Given the description of an element on the screen output the (x, y) to click on. 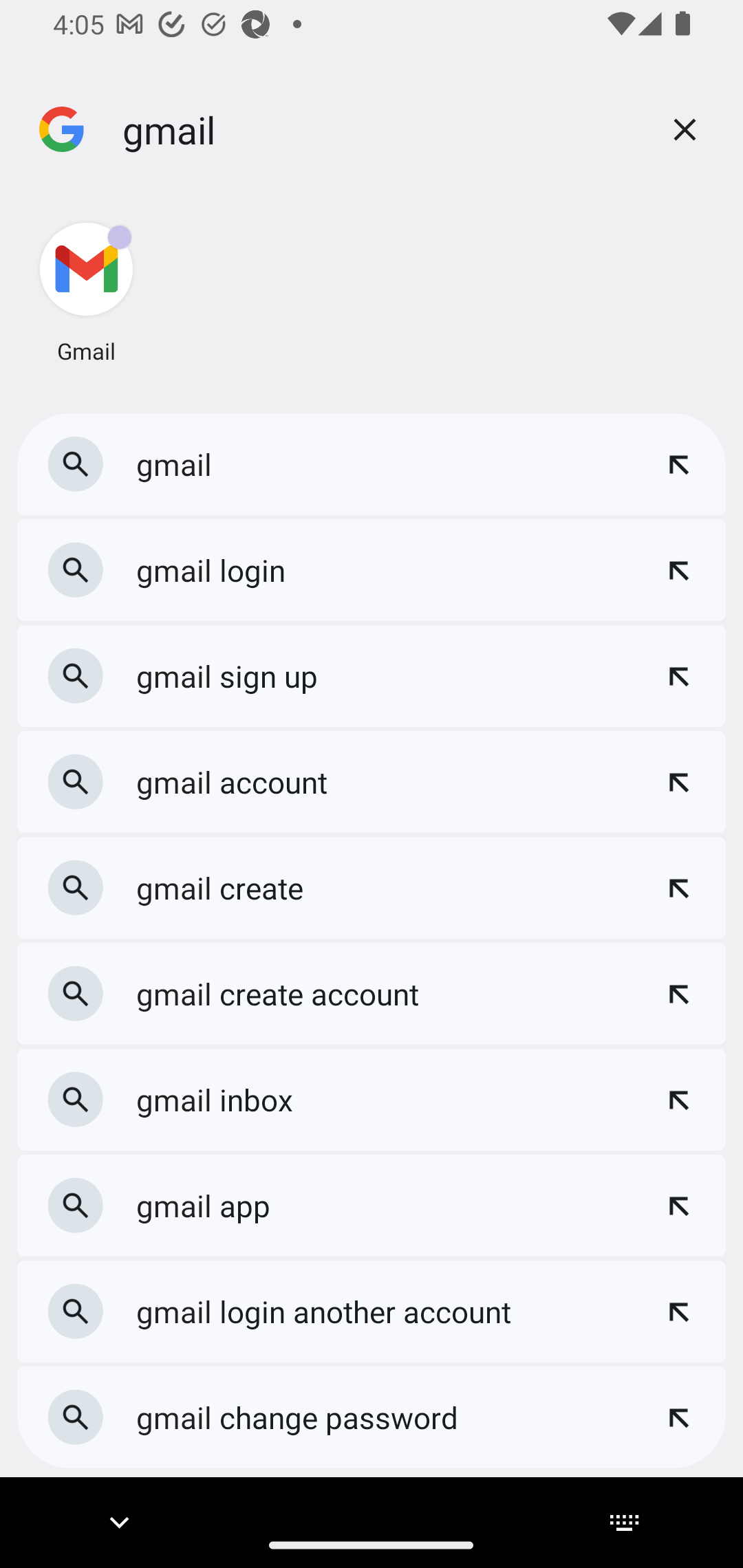
gmail (379, 129)
Clear search box (685, 128)
Gmail Gmail has 2 notifications (85, 291)
Show predictions for gmail (678, 463)
Show predictions for gmail login (678, 570)
Show predictions for gmail sign up (678, 675)
Show predictions for gmail account (678, 781)
Show predictions for gmail create (678, 887)
Show predictions for gmail create account (678, 993)
Show predictions for gmail inbox (678, 1098)
Show predictions for gmail app (678, 1205)
Show predictions for gmail login another account (678, 1310)
Show predictions for gmail change password (678, 1417)
